Given the description of an element on the screen output the (x, y) to click on. 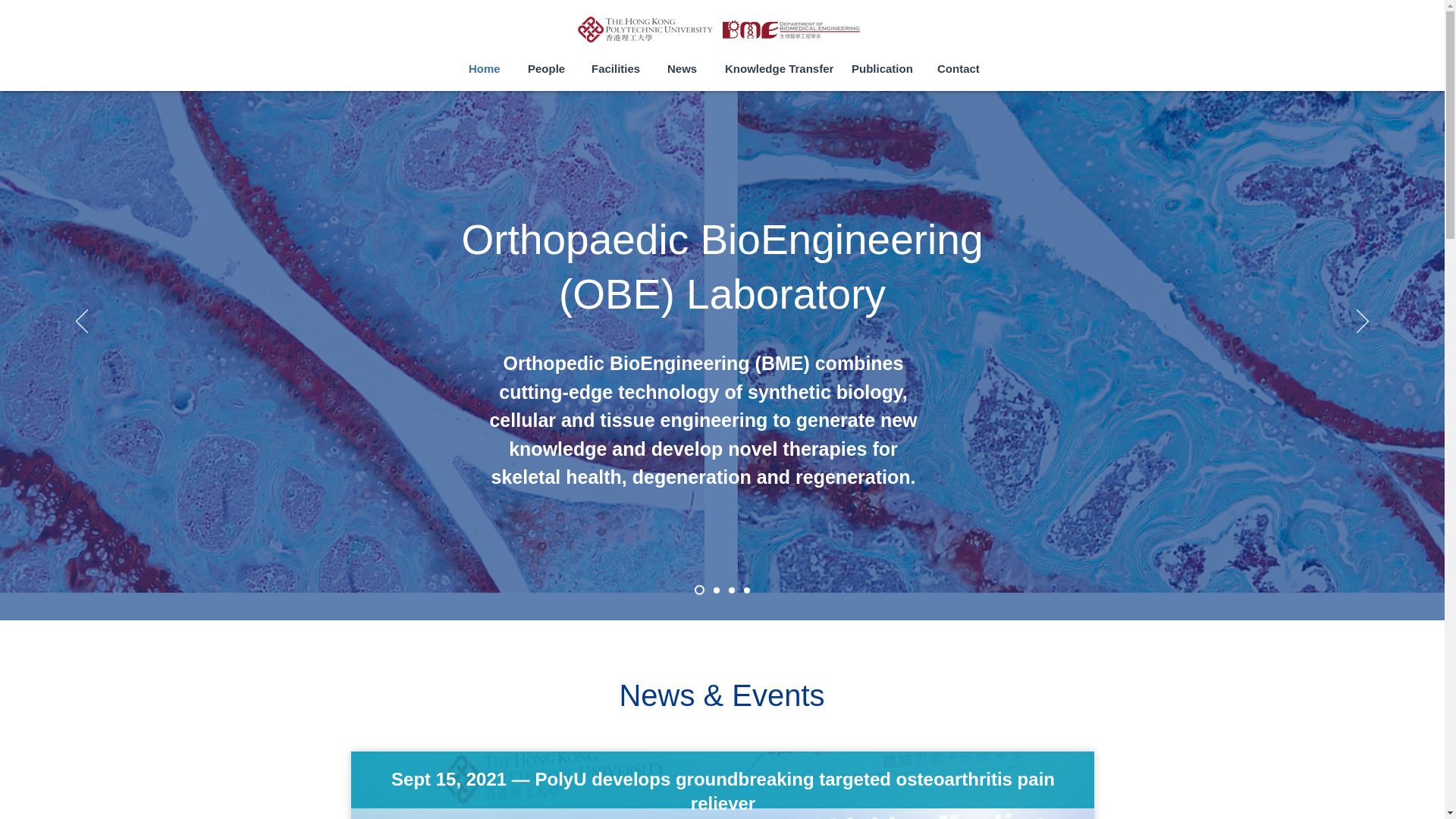
People (544, 68)
Home (482, 68)
Contact (956, 68)
News (681, 68)
Knowledge Transfer (772, 68)
Facilities (614, 68)
Publication (878, 68)
